Given the description of an element on the screen output the (x, y) to click on. 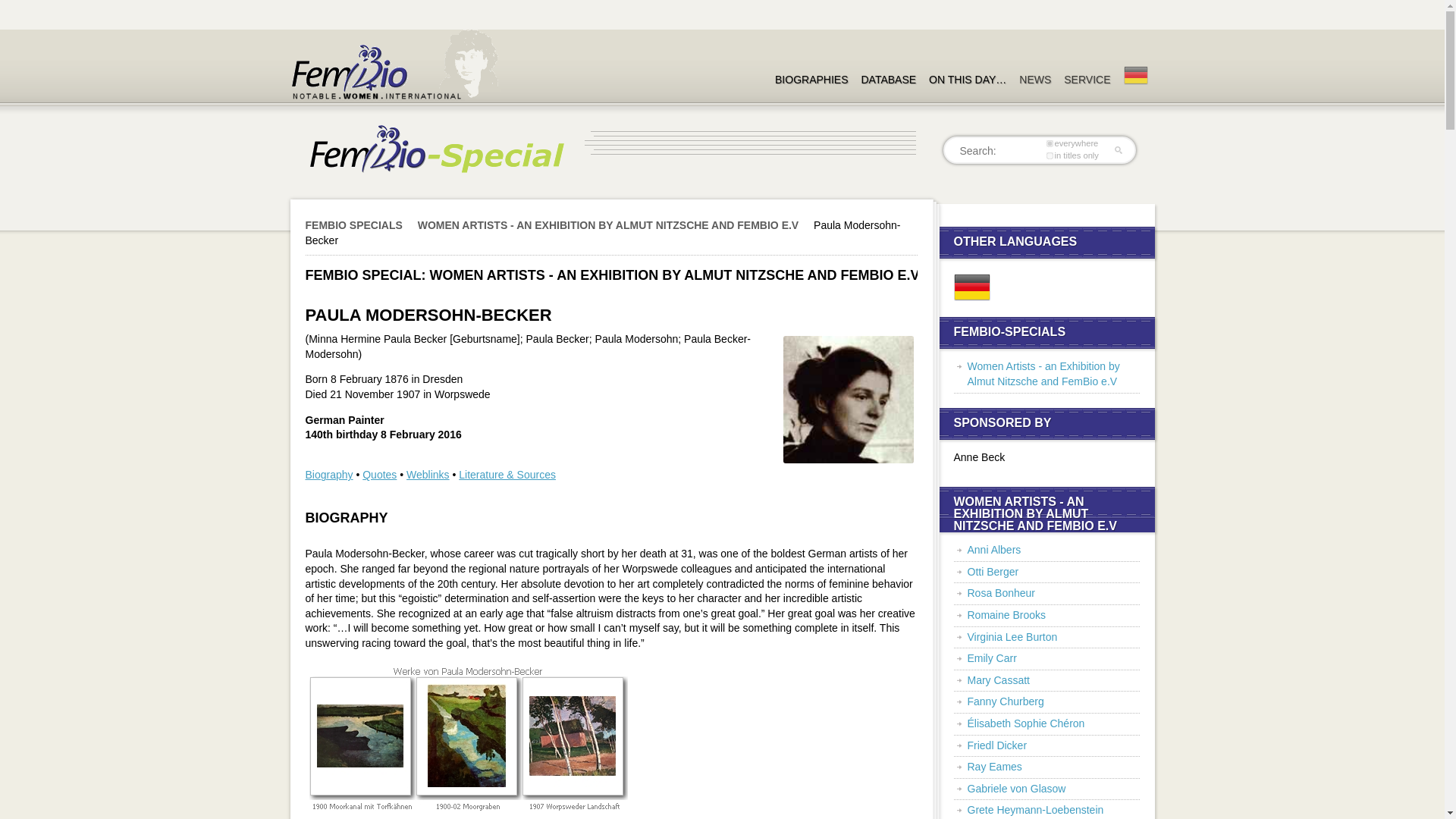
titles (1050, 156)
FEMBIO SPECIALS (358, 224)
DATABASE (888, 65)
everywhere (1050, 144)
Werke von Paula Modersohn-Becker (467, 739)
BIOGRAPHIES (811, 65)
Search (24, 14)
Anni Albers (995, 549)
also available in German (971, 287)
